Given the description of an element on the screen output the (x, y) to click on. 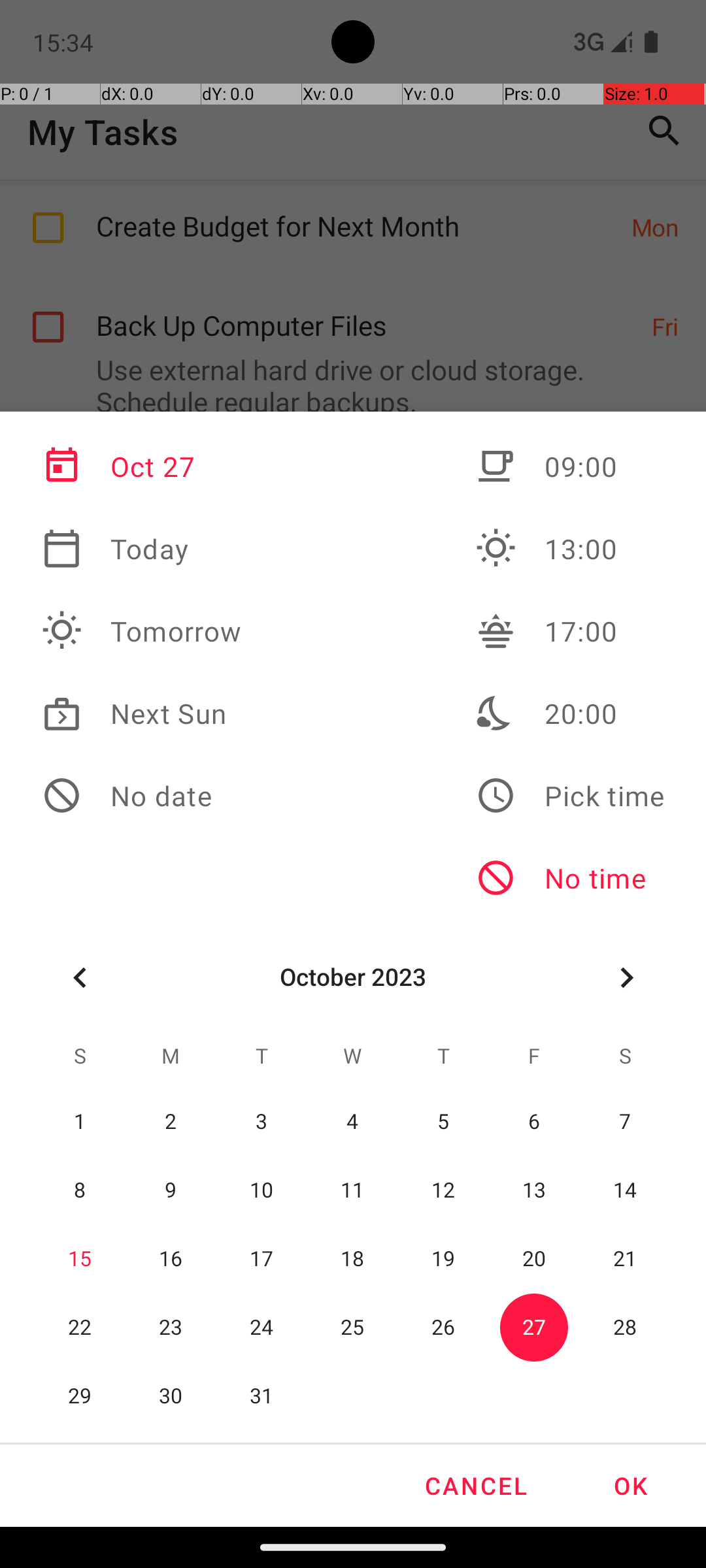
Oct 27 Element type: android.widget.CompoundButton (141, 466)
